Given the description of an element on the screen output the (x, y) to click on. 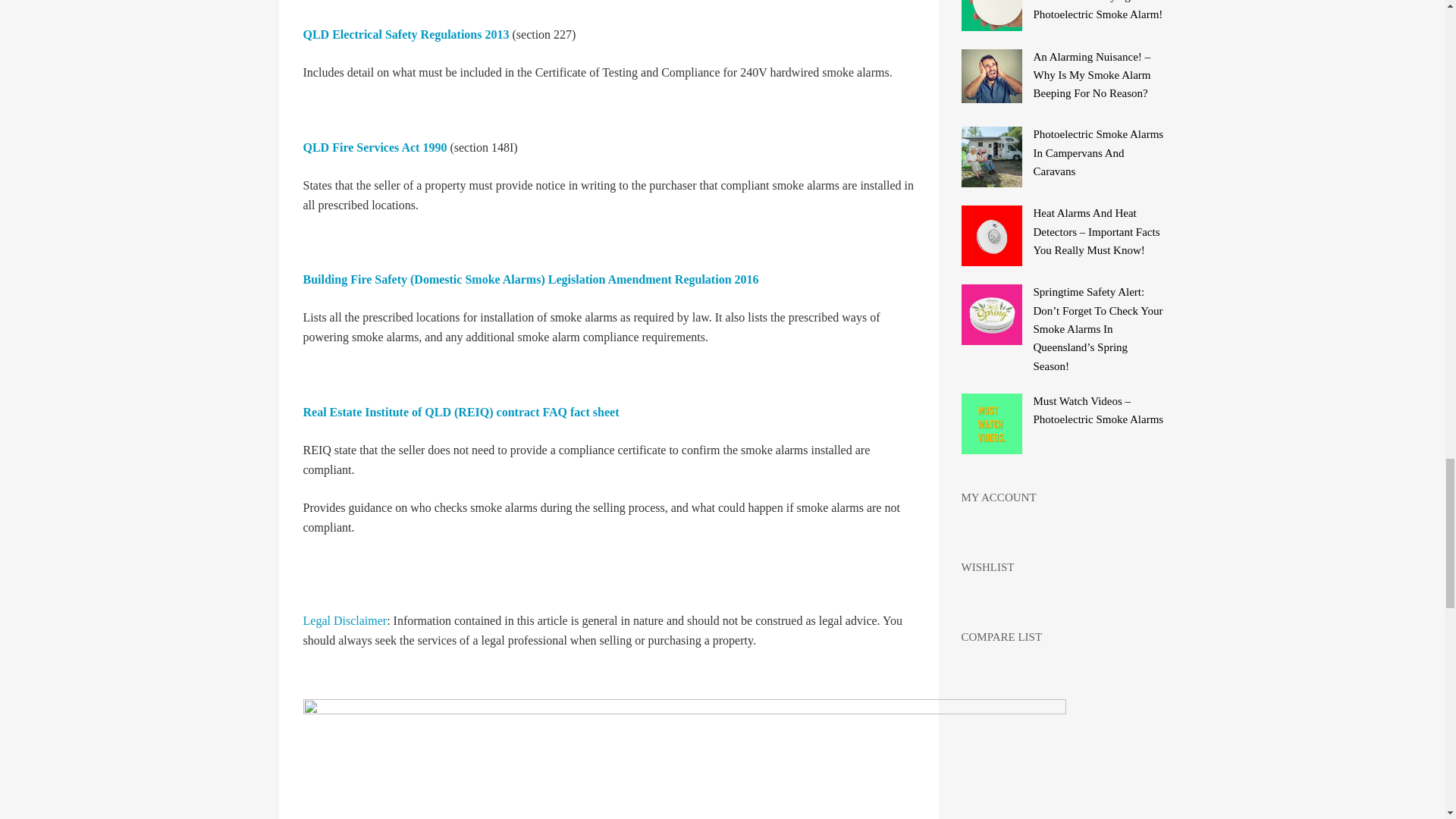
QLD Fire Services Act 1990 (374, 146)
QLD Electrical Safety Regulations 2013 (405, 33)
Legal Disclaimer (344, 620)
